Given the description of an element on the screen output the (x, y) to click on. 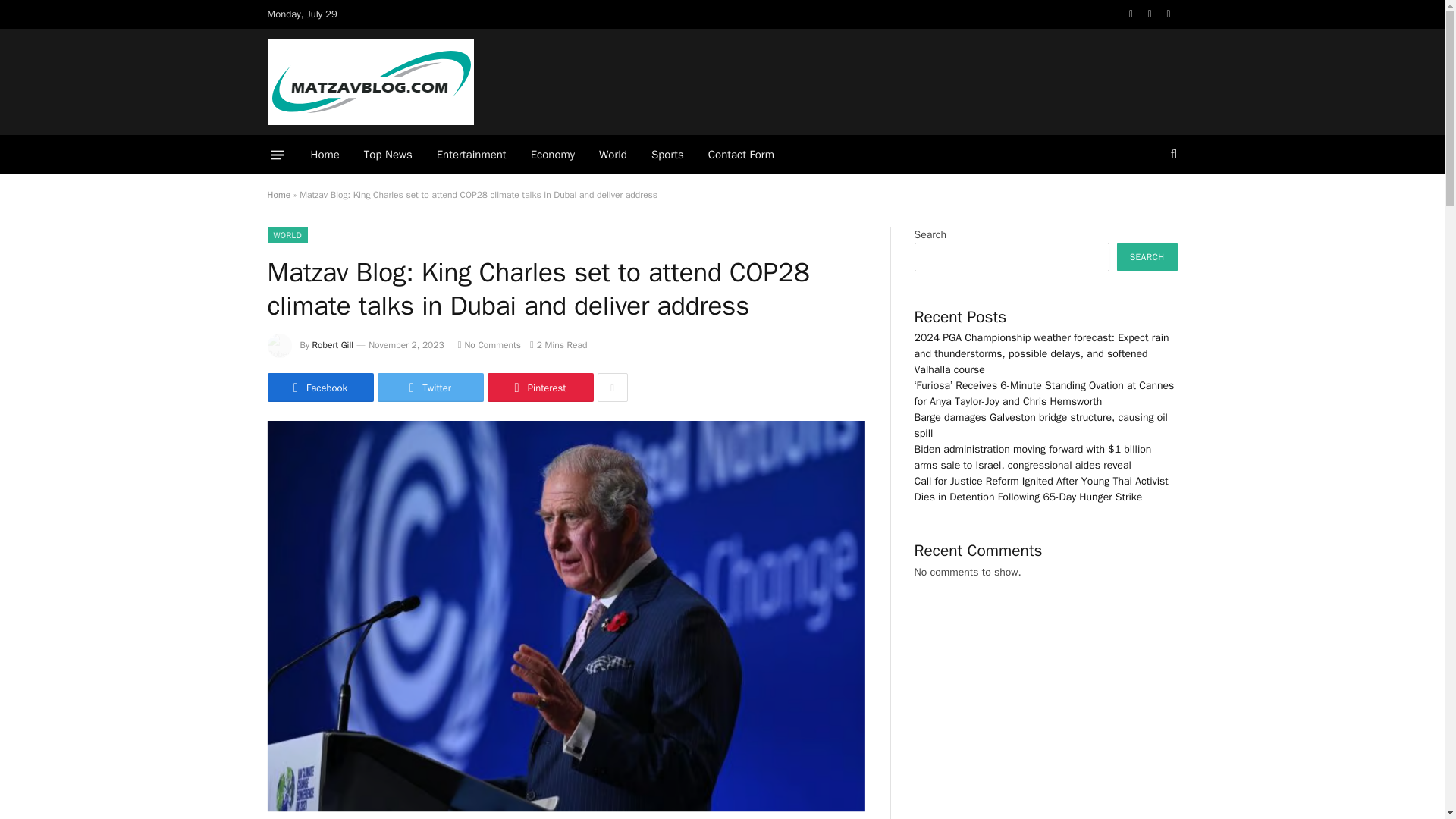
WORLD (286, 234)
Posts by Robert Gill (333, 345)
Robert Gill (333, 345)
No Comments (489, 345)
World (612, 154)
Share on Pinterest (539, 387)
Entertainment (471, 154)
Contact Form (740, 154)
Home (325, 154)
Twitter (430, 387)
Pinterest (539, 387)
Share on Facebook (319, 387)
Sports (667, 154)
Home (277, 194)
